Given the description of an element on the screen output the (x, y) to click on. 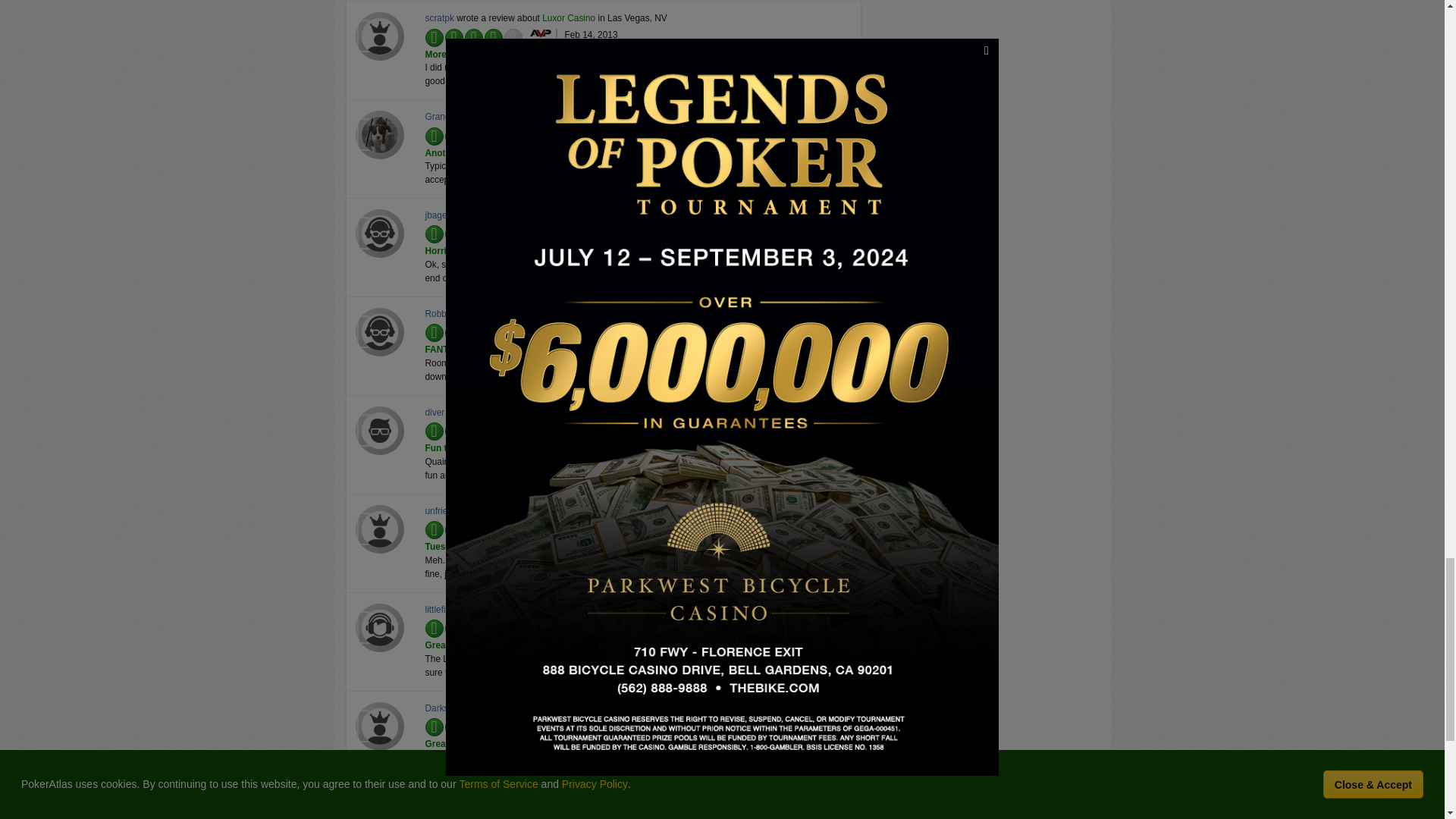
Dec 22, 2011 (590, 428)
Jan 21, 2012 (589, 329)
Feb 12, 2013 (590, 132)
Feb 14, 2013 (590, 34)
Jul 6, 2012 (586, 231)
